Given the description of an element on the screen output the (x, y) to click on. 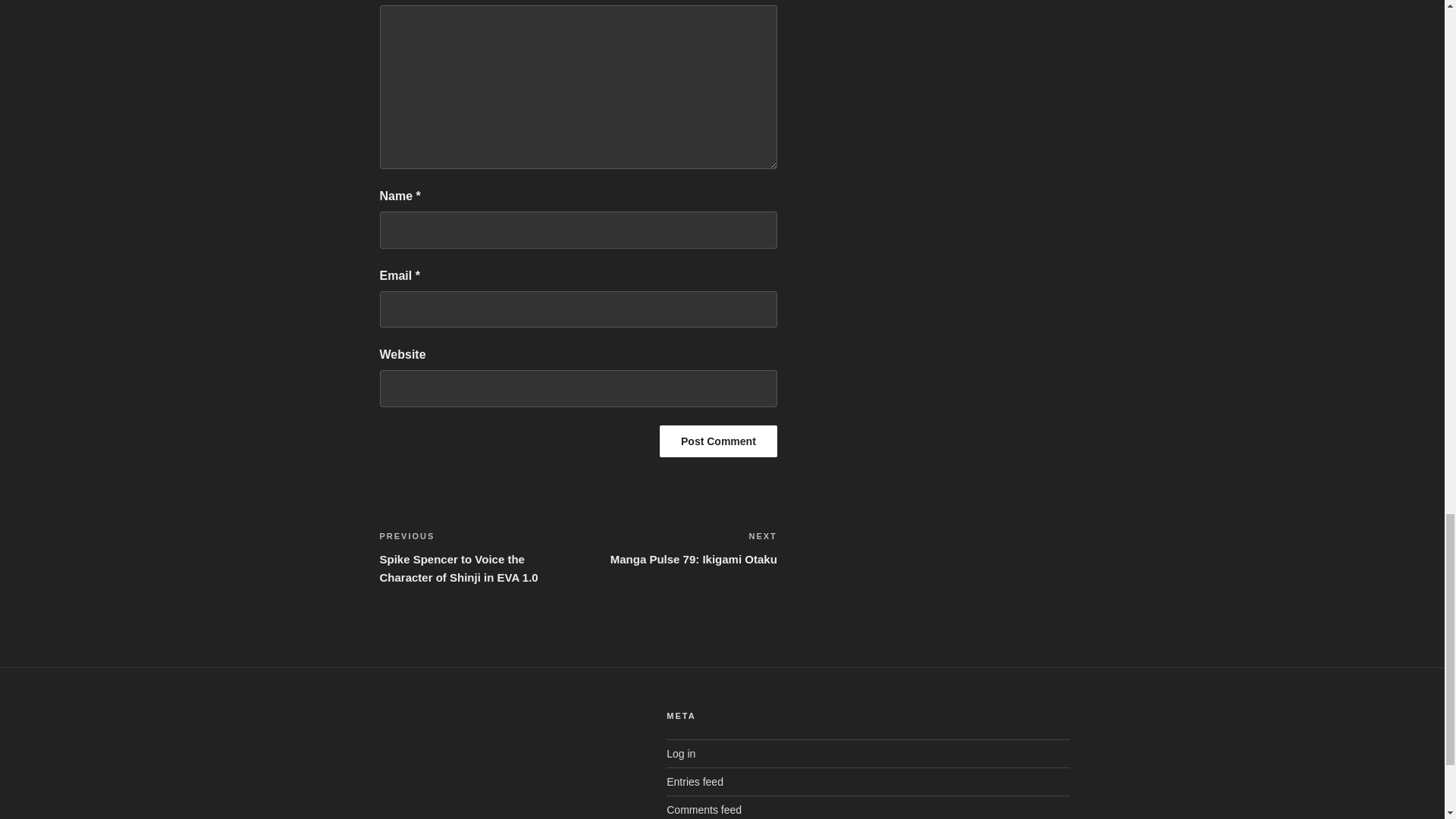
Post Comment (718, 441)
Post Comment (677, 547)
